Given the description of an element on the screen output the (x, y) to click on. 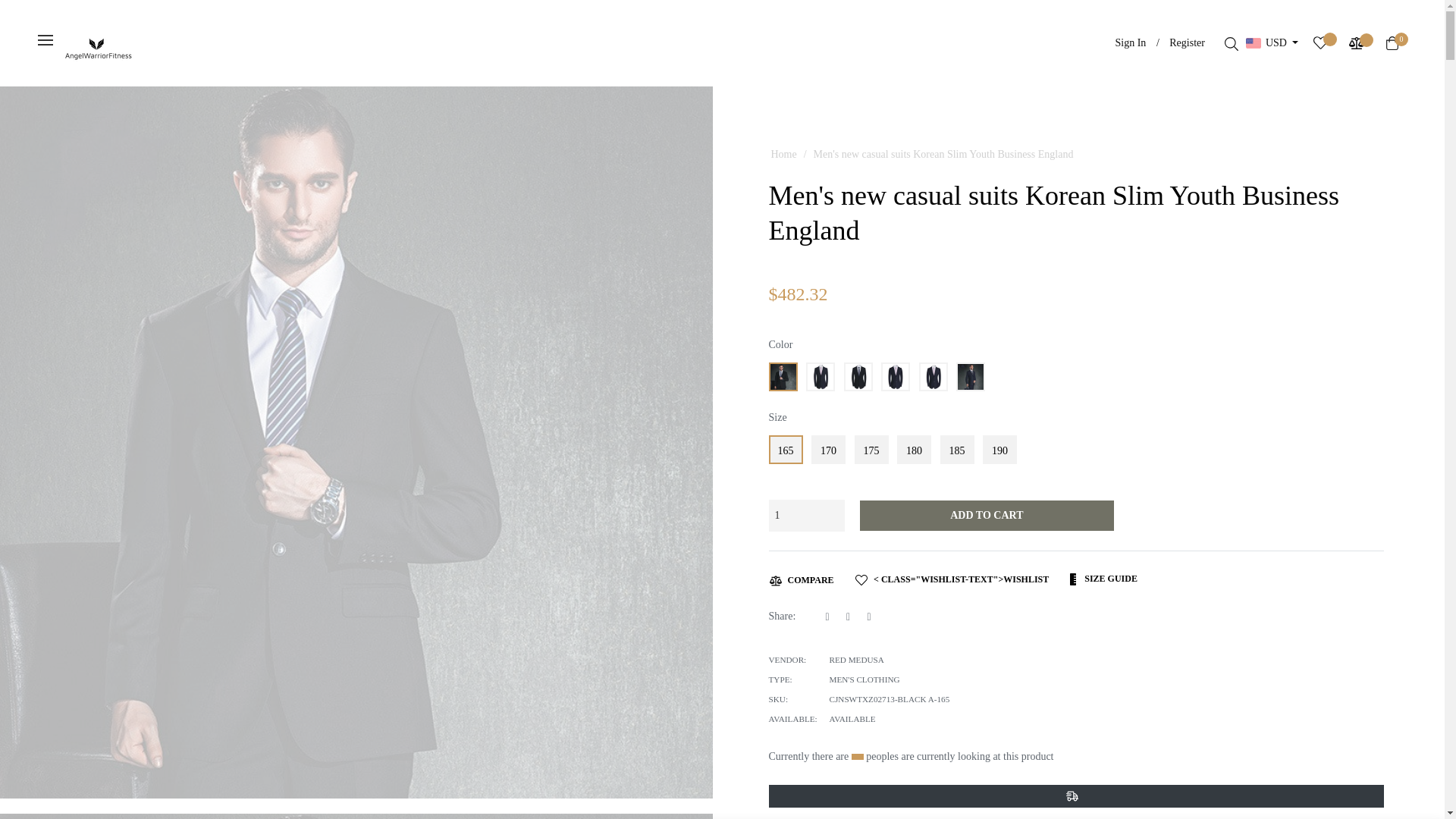
Wishlist (1320, 42)
Currencies (1272, 42)
Sign In (1131, 43)
Black A (782, 376)
Navy blue C (932, 376)
1 (806, 514)
Home (783, 154)
